Given the description of an element on the screen output the (x, y) to click on. 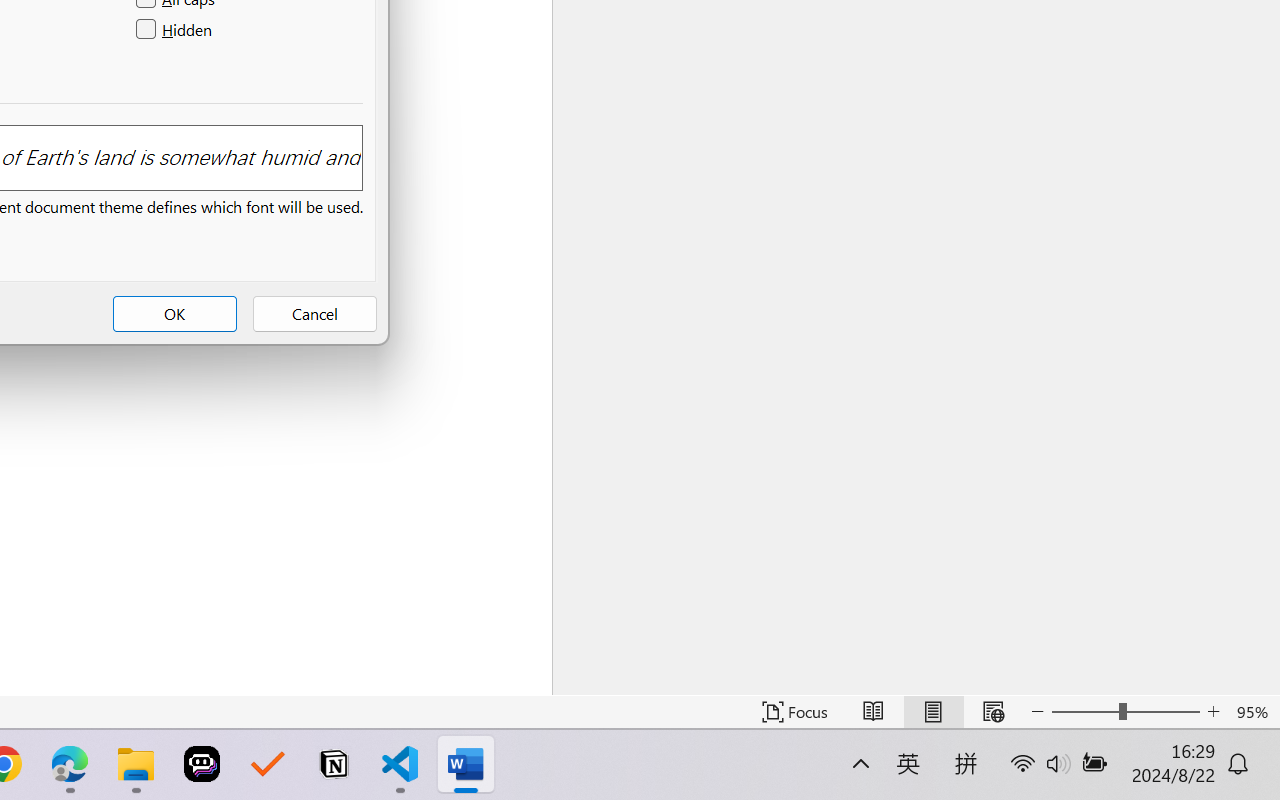
Zoom 95% (1253, 712)
OK (175, 313)
Poe (201, 764)
